Given the description of an element on the screen output the (x, y) to click on. 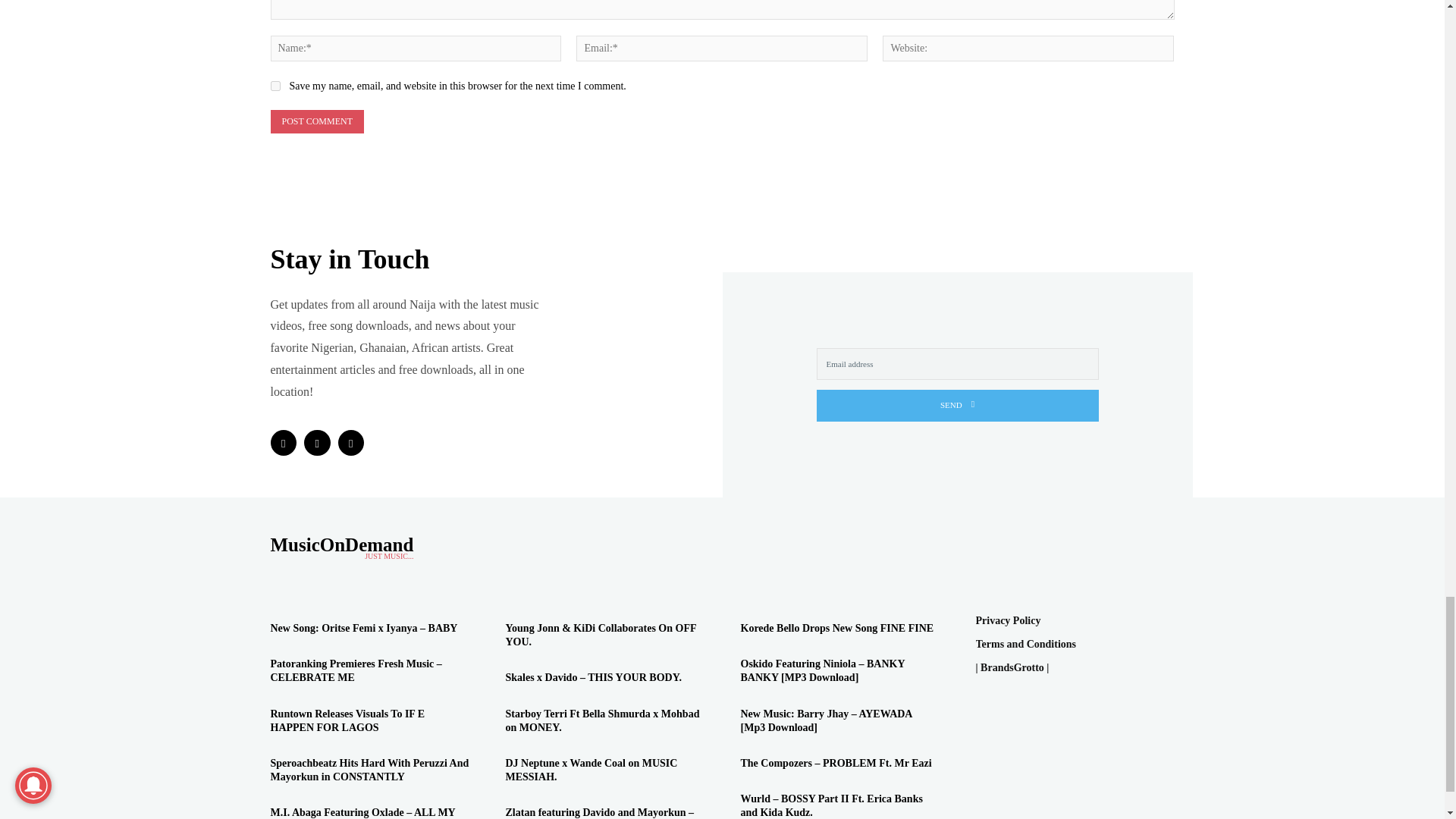
yes (274, 85)
Post Comment (315, 121)
